Given the description of an element on the screen output the (x, y) to click on. 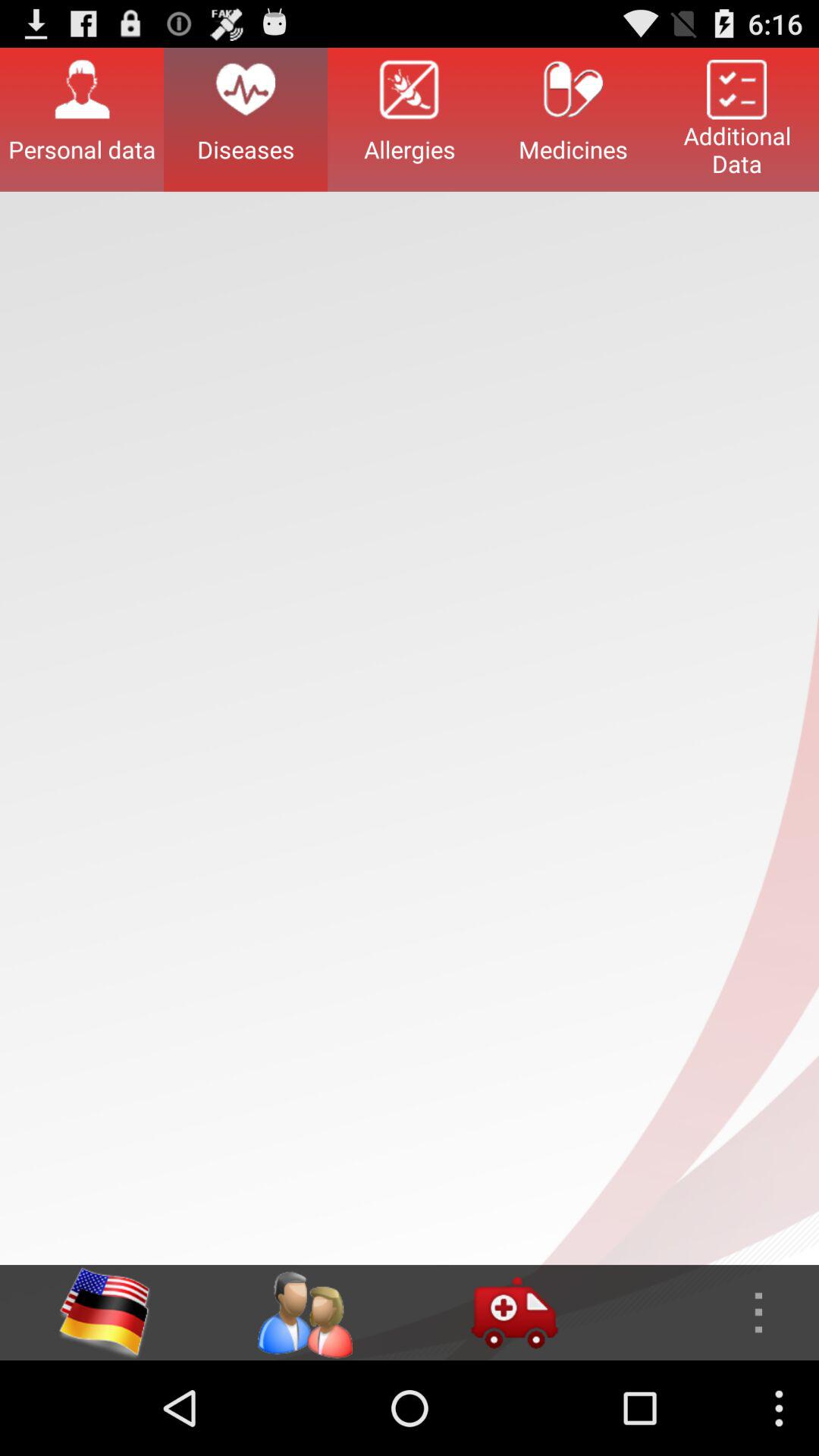
click the button next to the personal data button (245, 119)
